Given the description of an element on the screen output the (x, y) to click on. 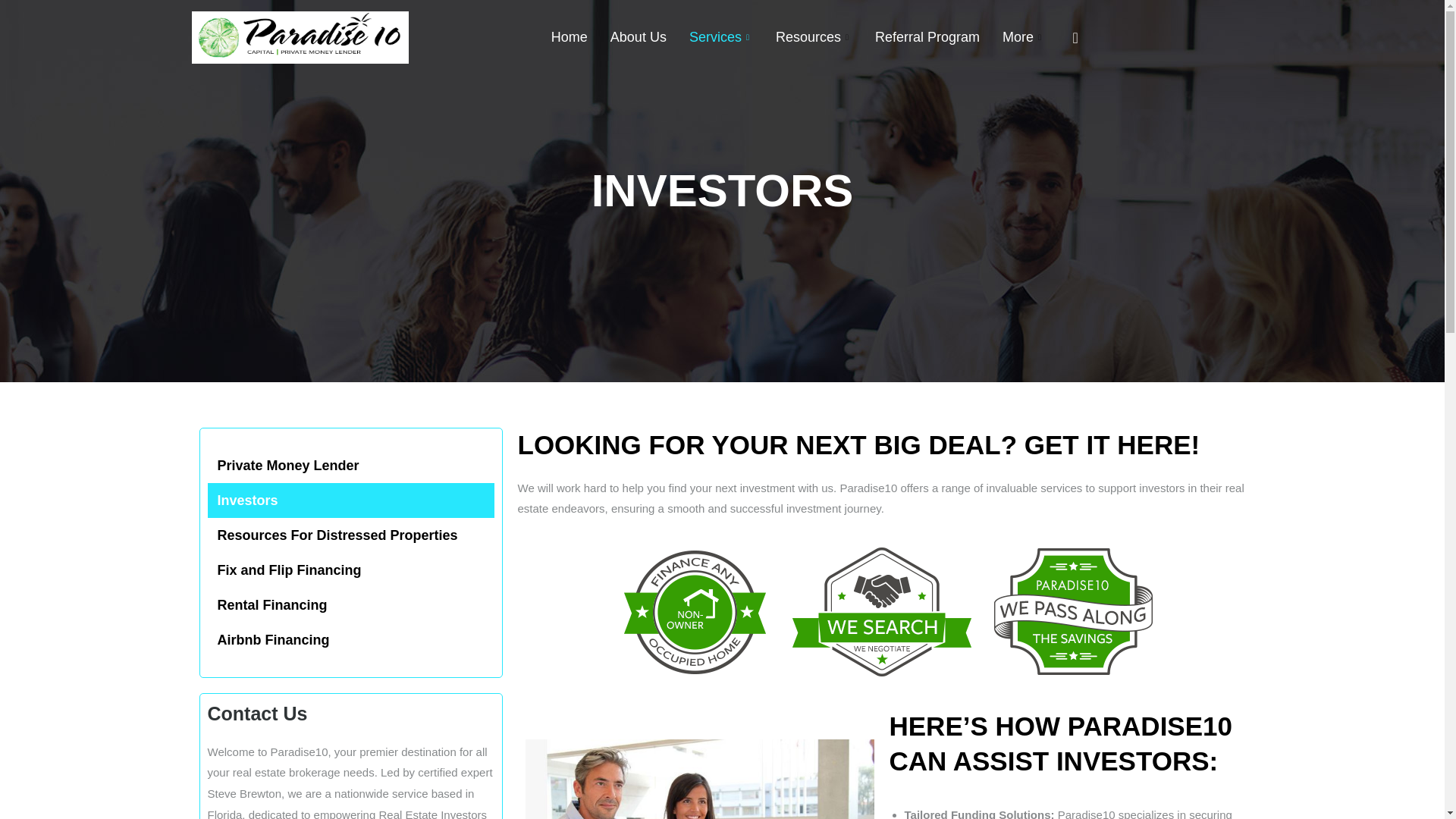
Home (569, 37)
Services (721, 37)
Resources (813, 37)
About Us (638, 37)
Referral Program (927, 37)
More (1024, 37)
